Given the description of an element on the screen output the (x, y) to click on. 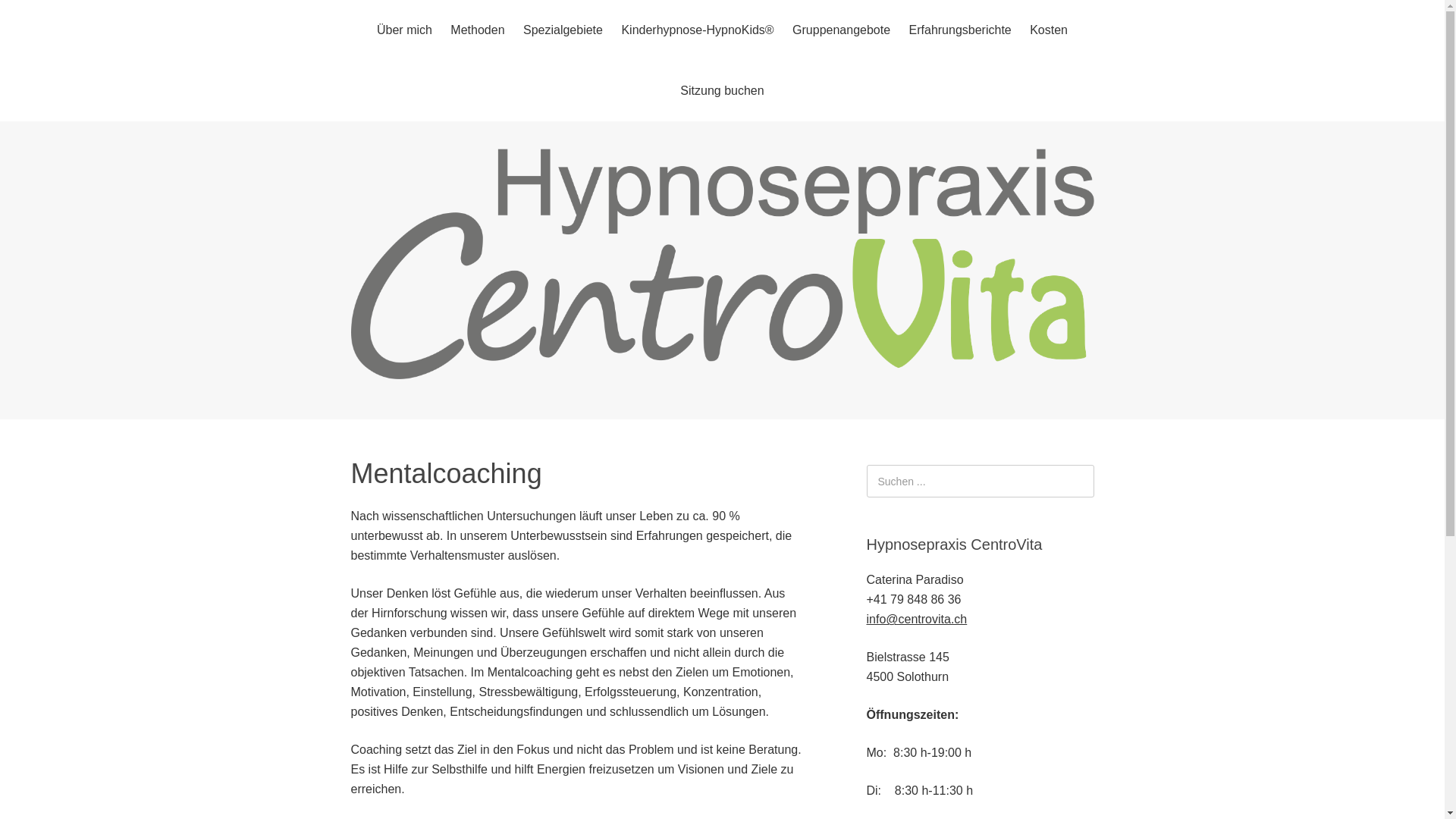
Erfahrungsberichte Element type: text (960, 30)
Spezialgebiete Element type: text (562, 30)
Suchen Element type: text (0, 0)
Suchen nach: Element type: hover (979, 480)
centrovita Element type: hover (721, 367)
Sitzung buchen Element type: text (721, 90)
Gruppenangebote Element type: text (840, 30)
Methoden Element type: text (476, 30)
info@centrovita.ch Element type: text (916, 618)
Kosten Element type: text (1048, 30)
